Given the description of an element on the screen output the (x, y) to click on. 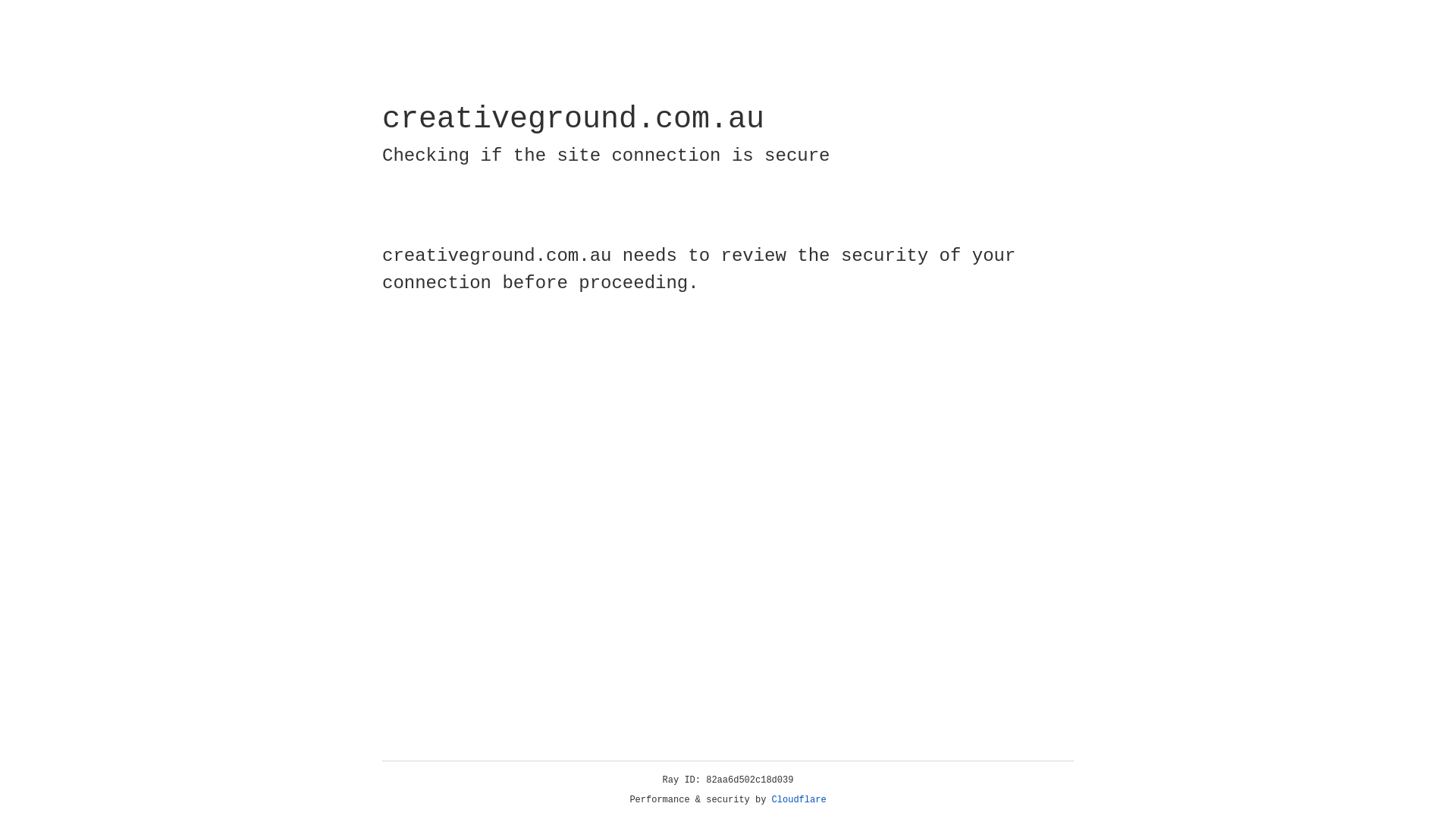
Cloudflare Element type: text (798, 799)
